Given the description of an element on the screen output the (x, y) to click on. 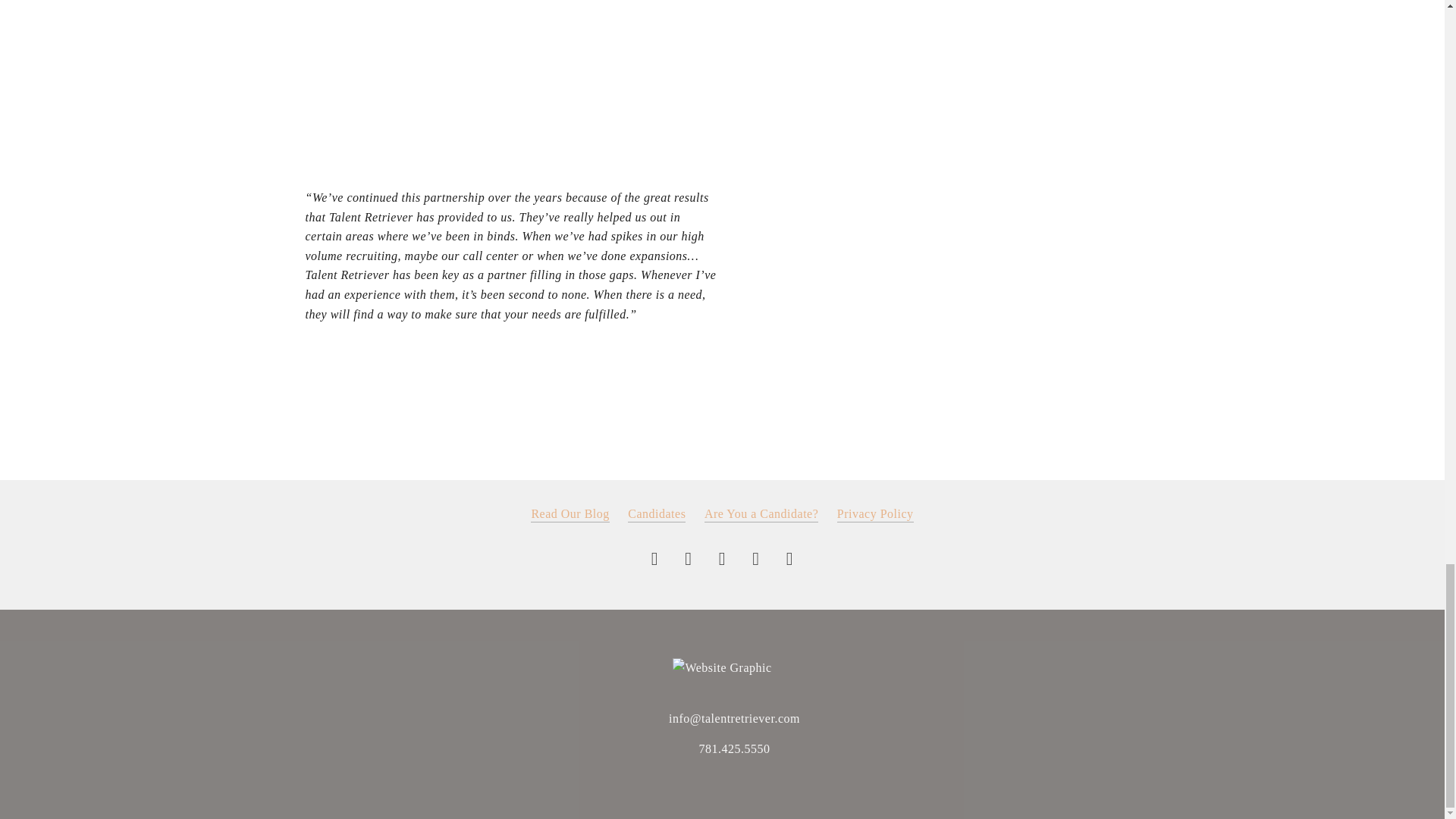
Read Our Blog (569, 514)
Privacy Policy (875, 514)
Candidates (656, 514)
Are You a Candidate? (761, 514)
Website Graphic (721, 668)
